Given the description of an element on the screen output the (x, y) to click on. 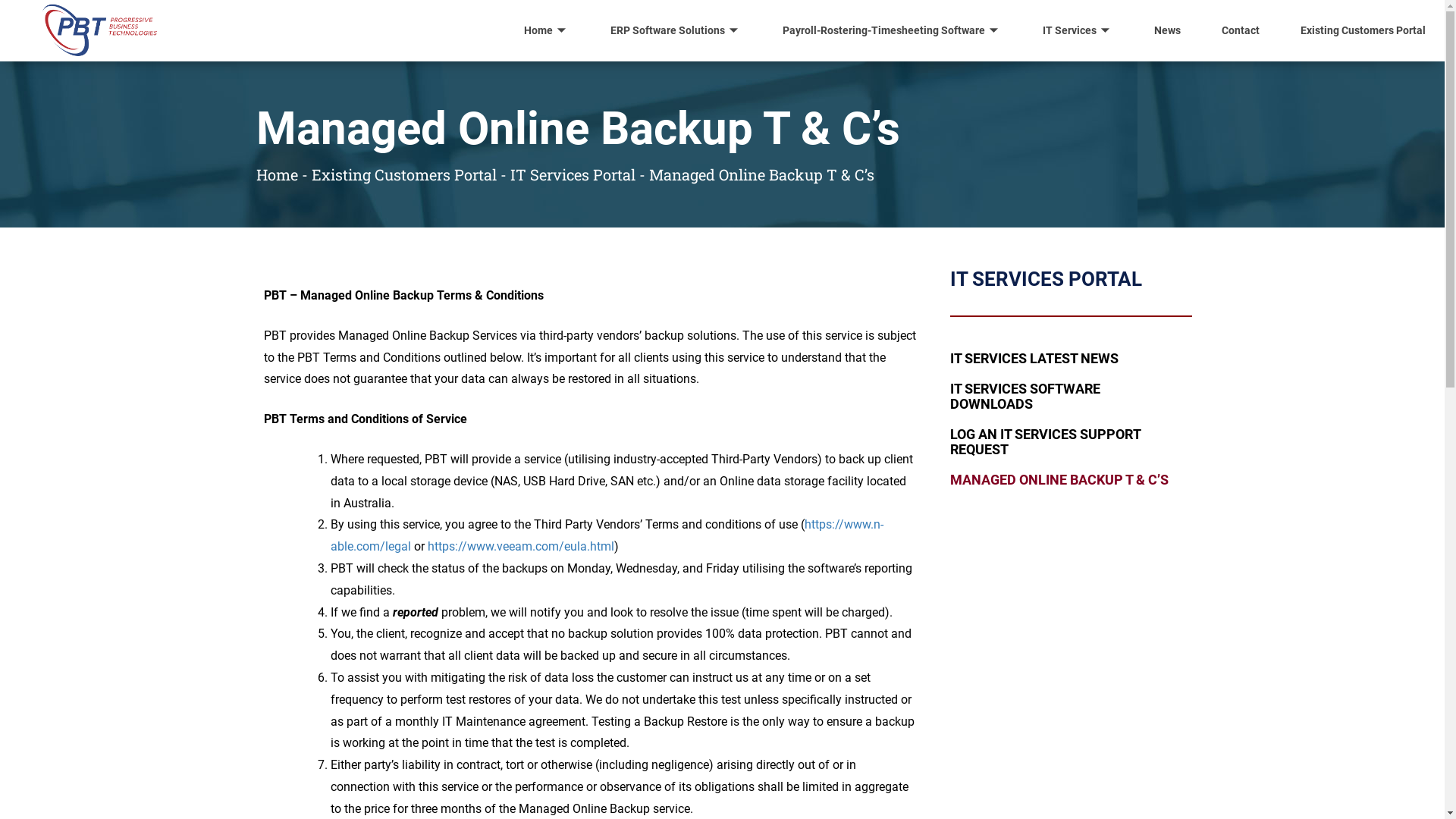
ERP Software Solutions Element type: text (675, 30)
Home Element type: text (546, 30)
Contact Element type: text (1240, 30)
IT Services Element type: text (1077, 30)
Home Element type: text (277, 174)
Payroll-Rostering-Timesheeting Software Element type: text (891, 30)
Existing Customers Portal Element type: text (402, 174)
IT SERVICES LATEST NEWS Element type: text (1063, 358)
News Element type: text (1167, 30)
LOG AN IT SERVICES SUPPORT REQUEST Element type: text (1063, 441)
https://www.veeam.com/eula.html Element type: text (520, 546)
IT Services Portal Element type: text (571, 174)
https://www.n-able.com/legal Element type: text (606, 535)
Existing Customers Portal Element type: text (1362, 30)
IT SERVICES SOFTWARE DOWNLOADS Element type: text (1063, 396)
